Given the description of an element on the screen output the (x, y) to click on. 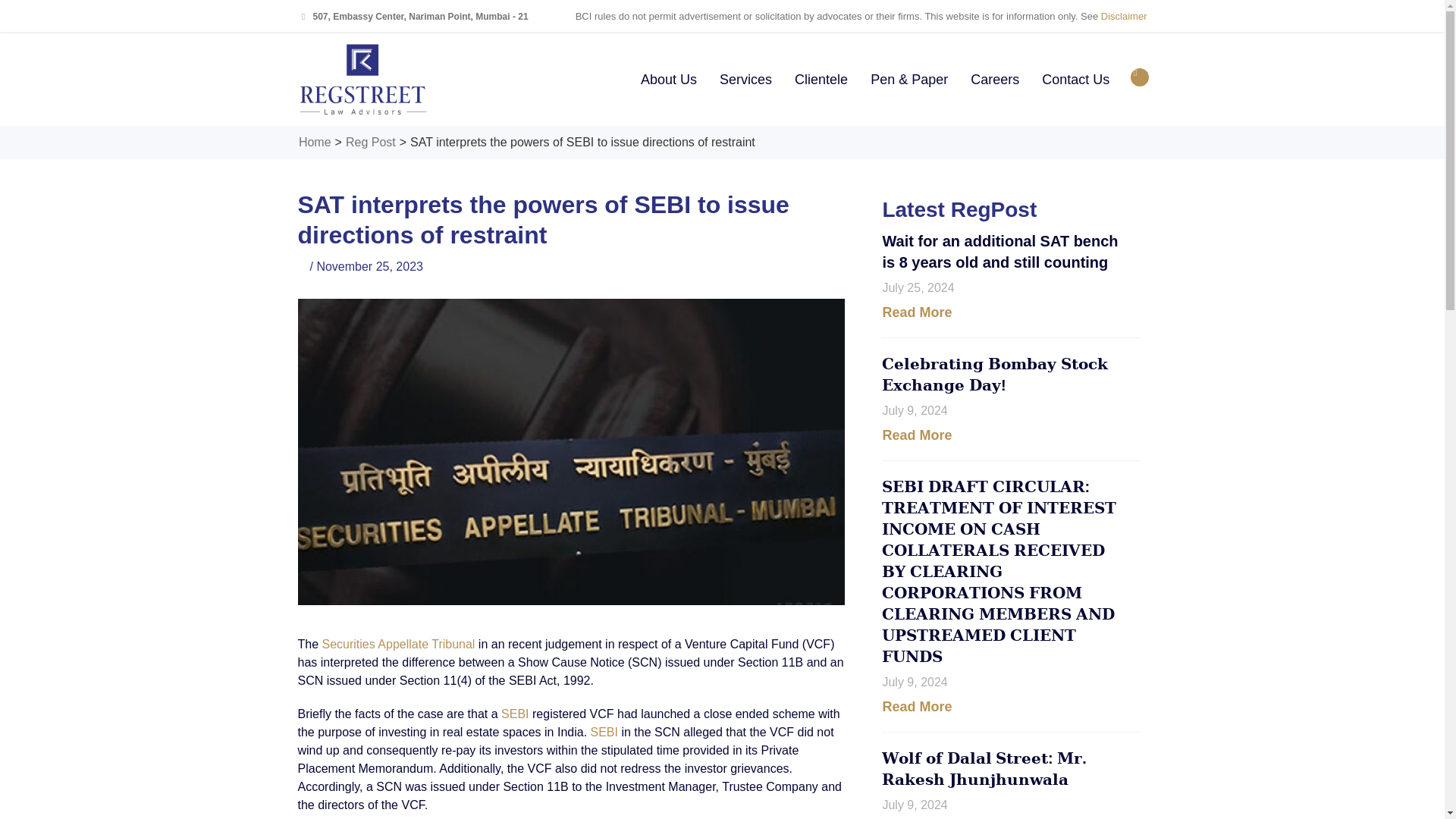
Disclaimer (1123, 16)
Contact Us (1075, 79)
About Us (667, 79)
Clientele (821, 79)
Careers (994, 79)
Services (745, 79)
